Given the description of an element on the screen output the (x, y) to click on. 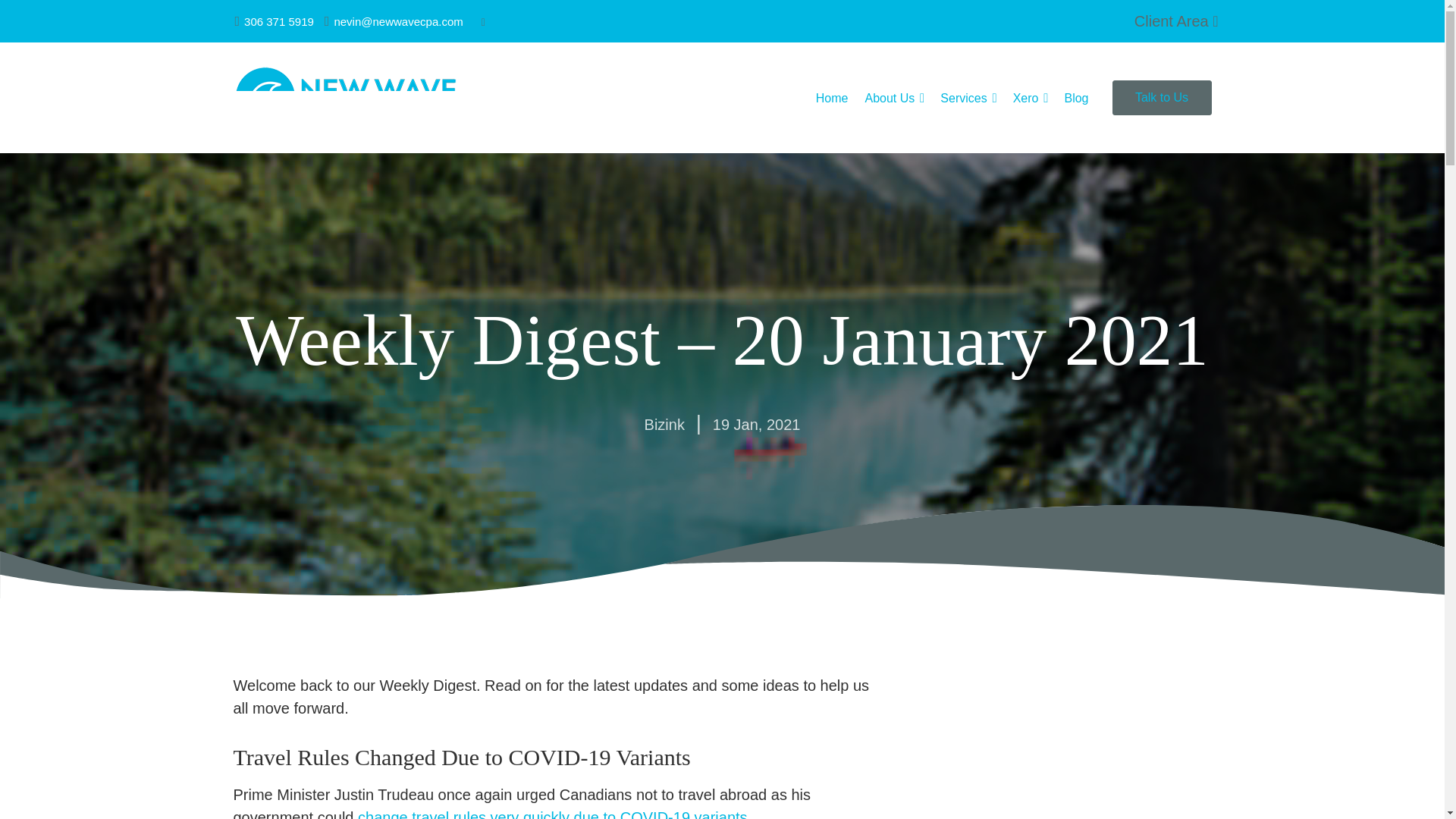
Home (831, 97)
Client Area (1176, 20)
Services (963, 97)
About Us (889, 97)
Home (831, 97)
change travel rules very quickly due to COVID-19 variants (553, 814)
Talk to Us (1161, 97)
306 371 5919 (273, 21)
Services (963, 97)
Blog (1075, 97)
